Given the description of an element on the screen output the (x, y) to click on. 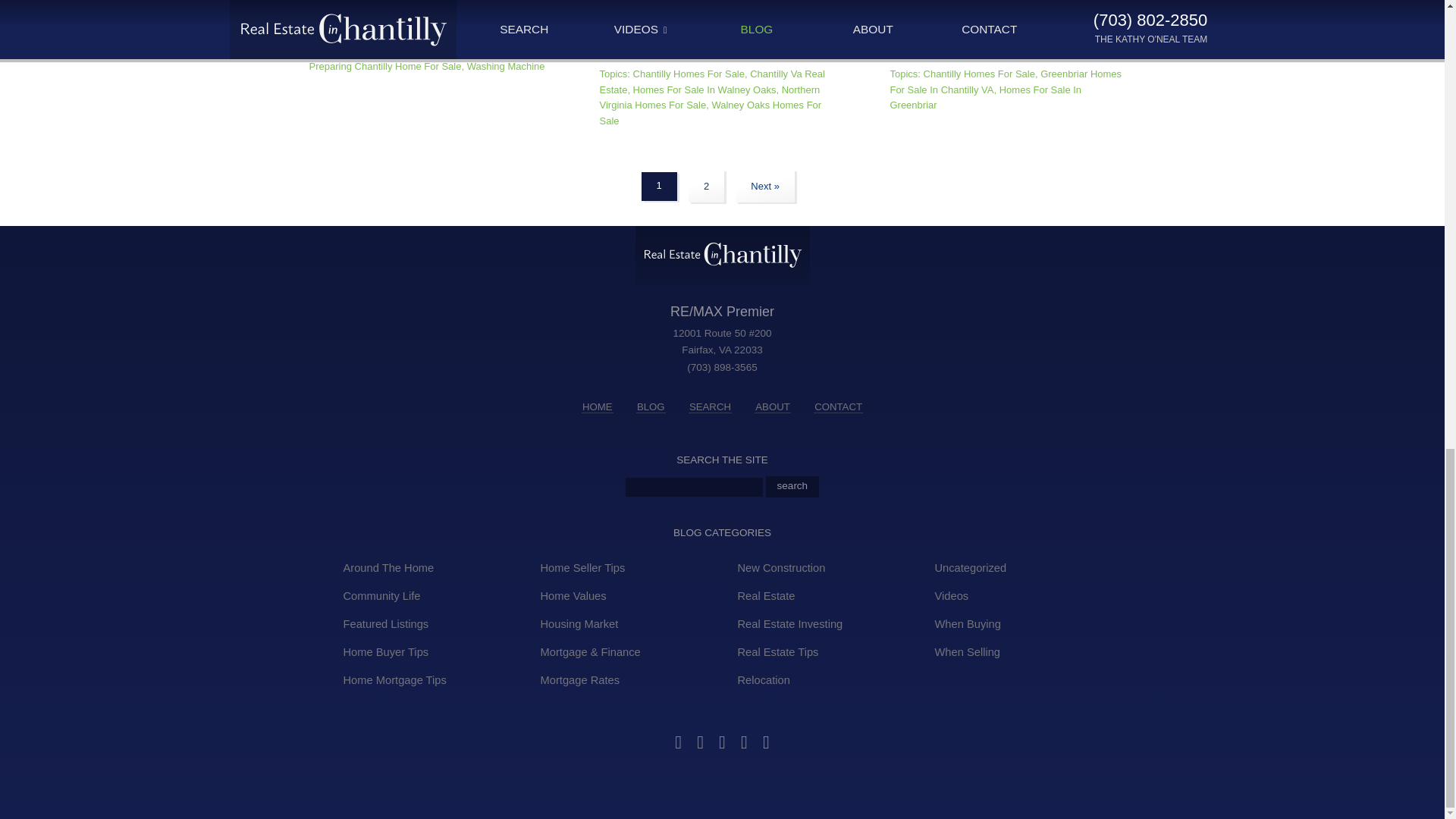
Community Spotlight: Walney Oaks in Chantilly VA (654, 42)
Keep Your Front-Loading Washing Machine Fresh (364, 7)
Search (792, 486)
